Given the description of an element on the screen output the (x, y) to click on. 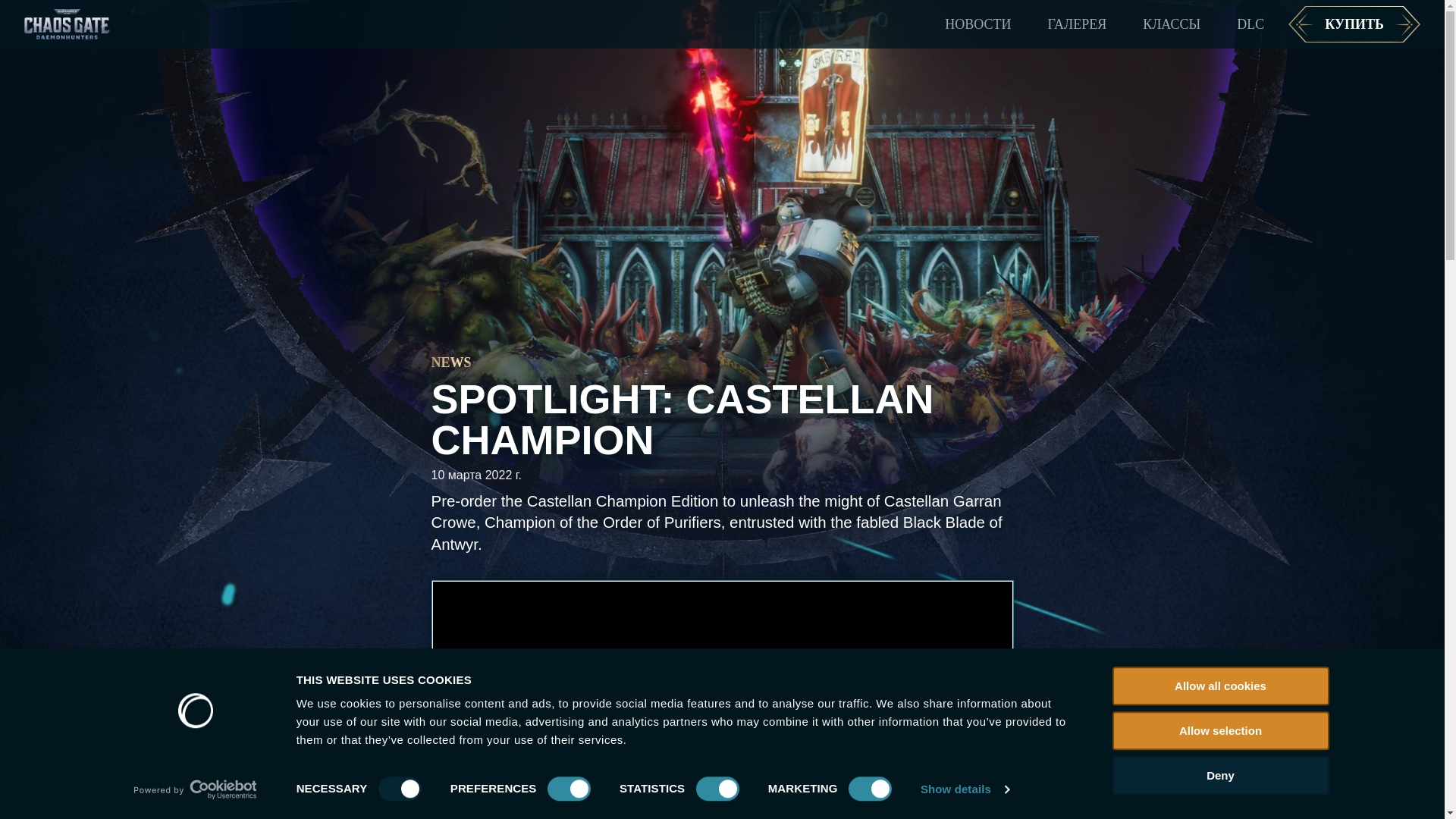
Show details (964, 789)
